Given the description of an element on the screen output the (x, y) to click on. 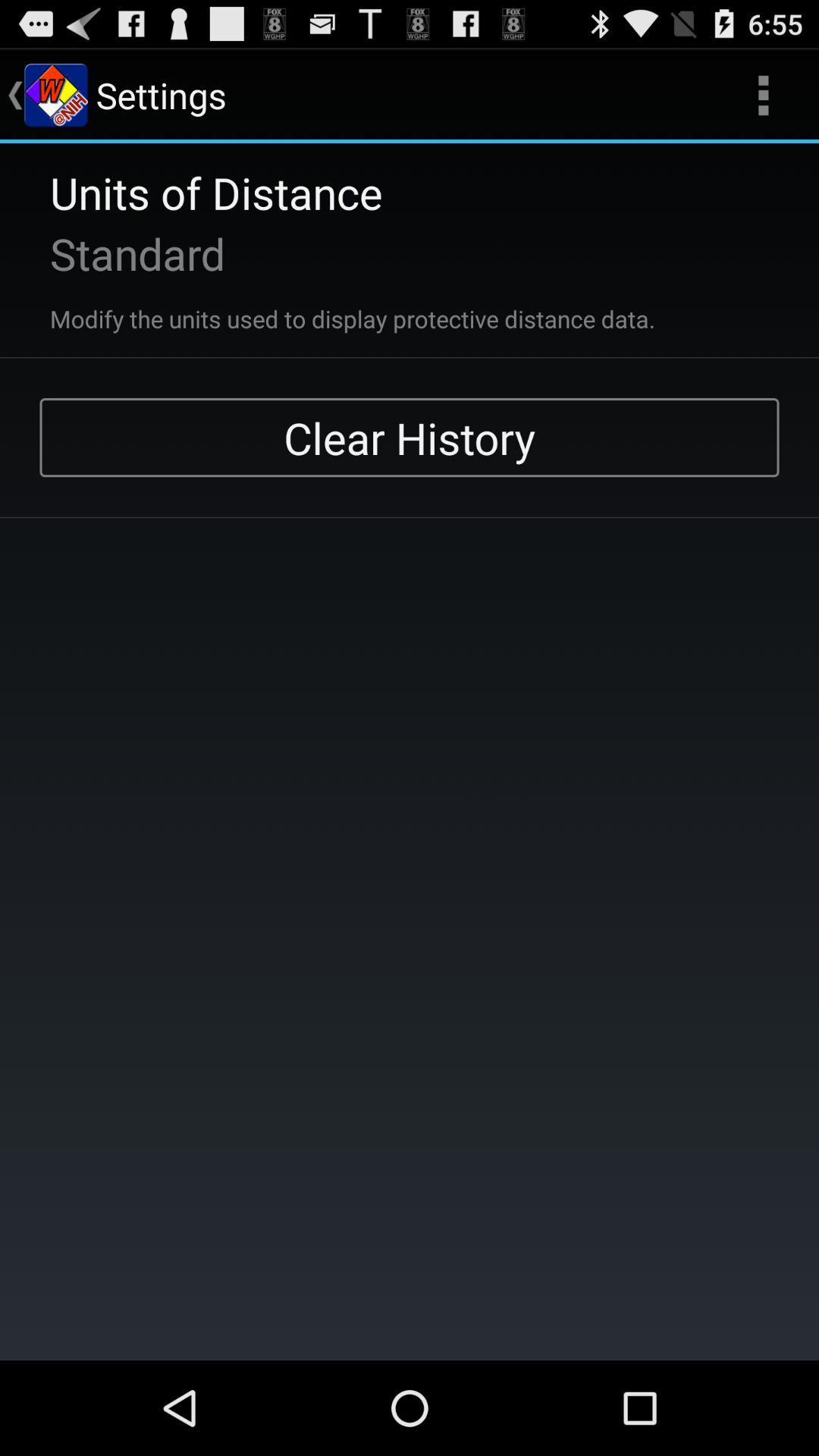
swipe to the clear history (409, 437)
